Given the description of an element on the screen output the (x, y) to click on. 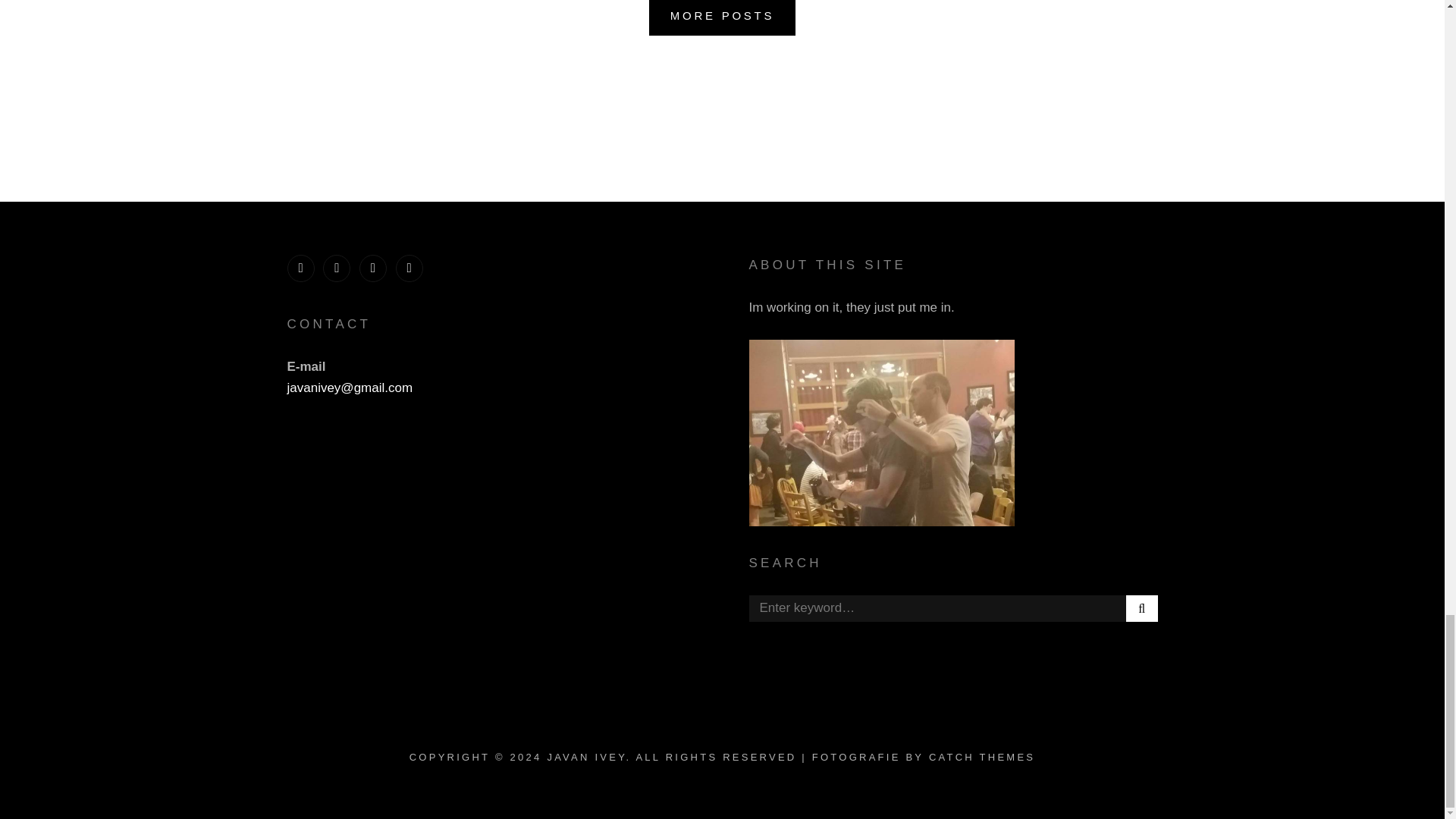
Instagram (336, 267)
Twitter (300, 267)
SEARCH (1141, 608)
Email (409, 267)
JAVAN IVEY (586, 756)
Vimeo (373, 267)
CATCH THEMES (981, 756)
MORE POSTS (722, 18)
